Given the description of an element on the screen output the (x, y) to click on. 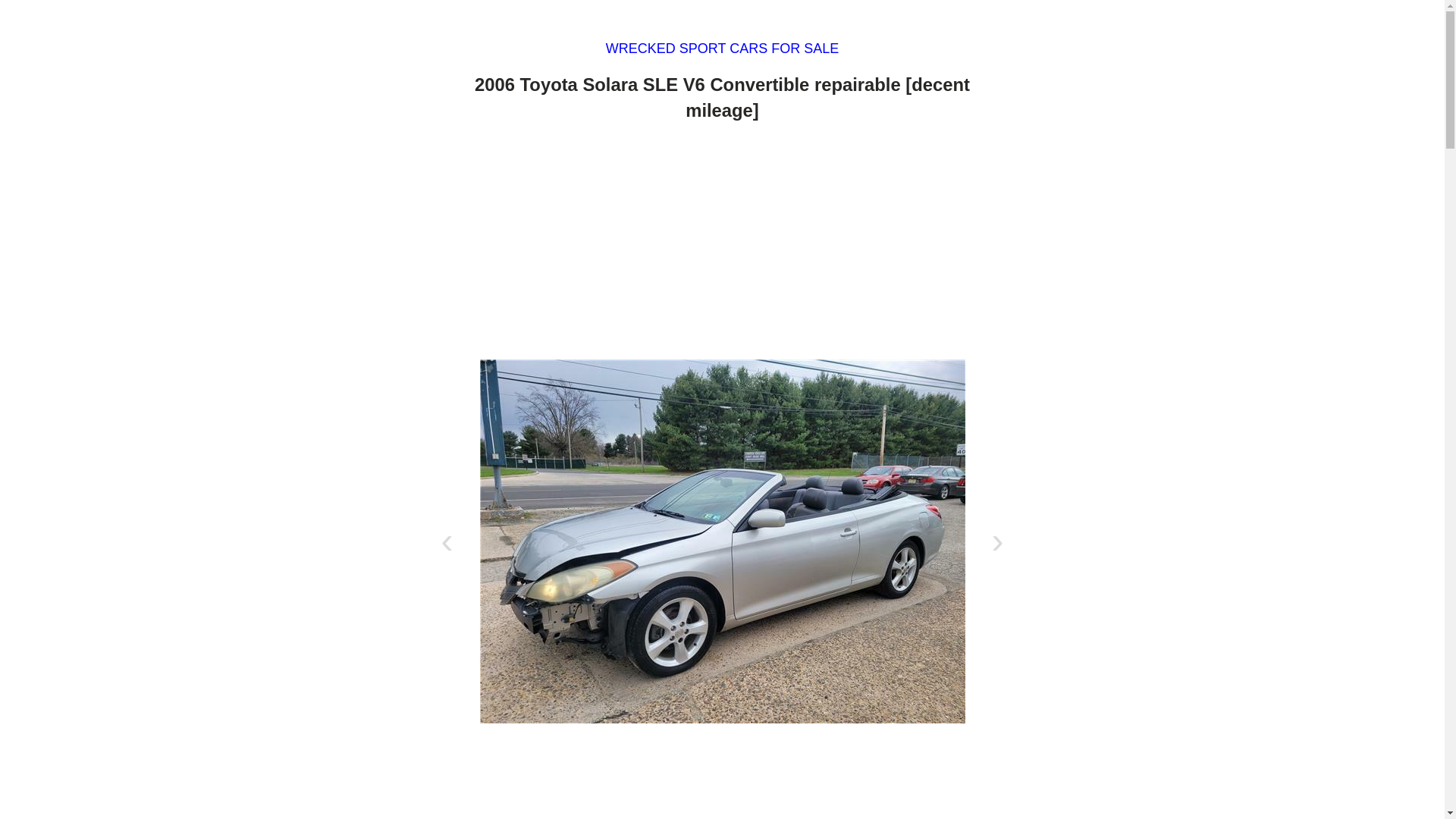
Advertisement (722, 777)
Advertisement (722, 244)
WRECKED SPORT CARS FOR SALE (721, 48)
